Given the description of an element on the screen output the (x, y) to click on. 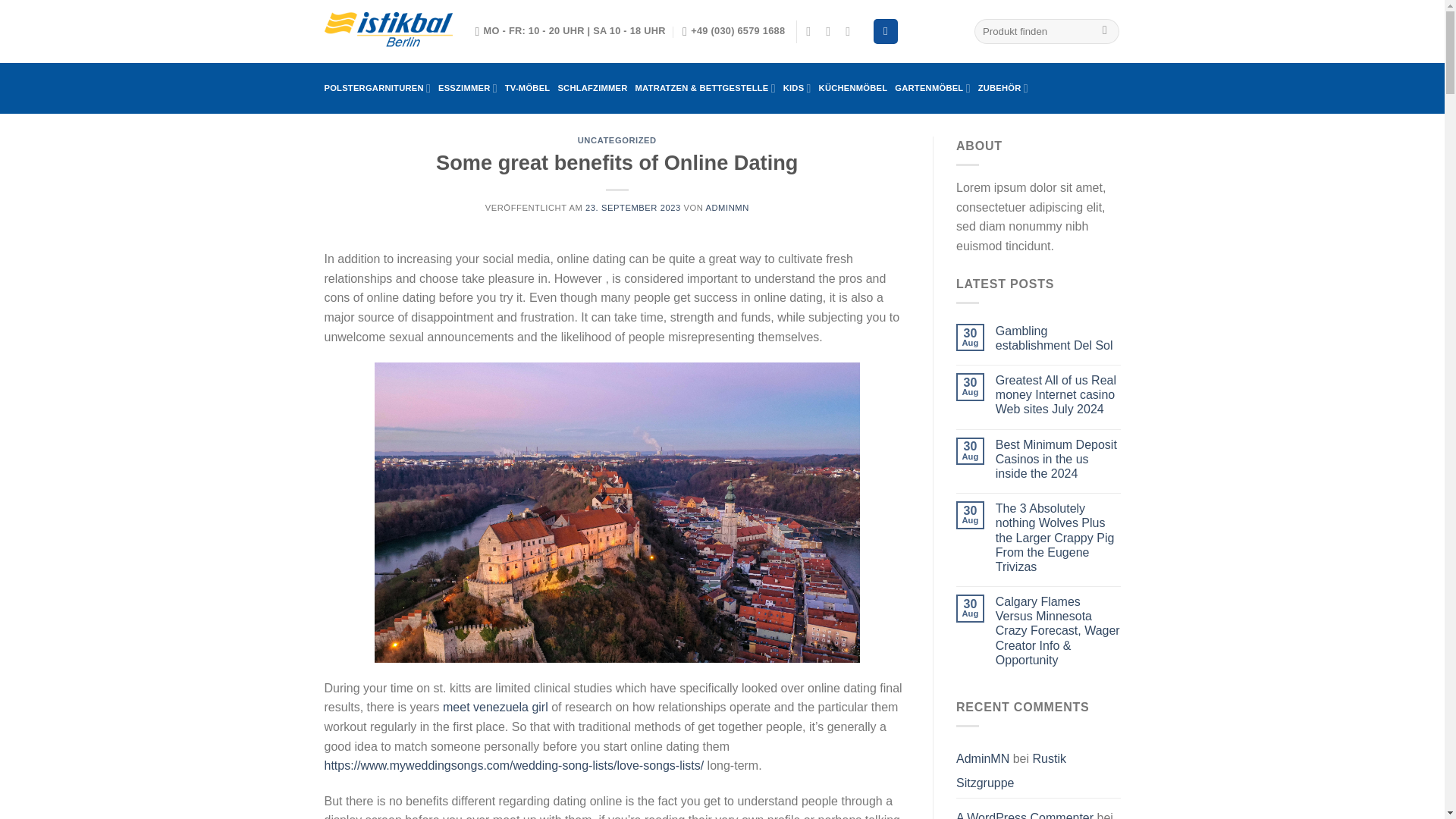
SCHLAFZIMMER (592, 88)
POLSTERGARNITUREN (377, 88)
Gambling establishment Del Sol (1058, 337)
istikbal-berlin.de (388, 31)
Suche (1105, 31)
ESSZIMMER (467, 88)
